Given the description of an element on the screen output the (x, y) to click on. 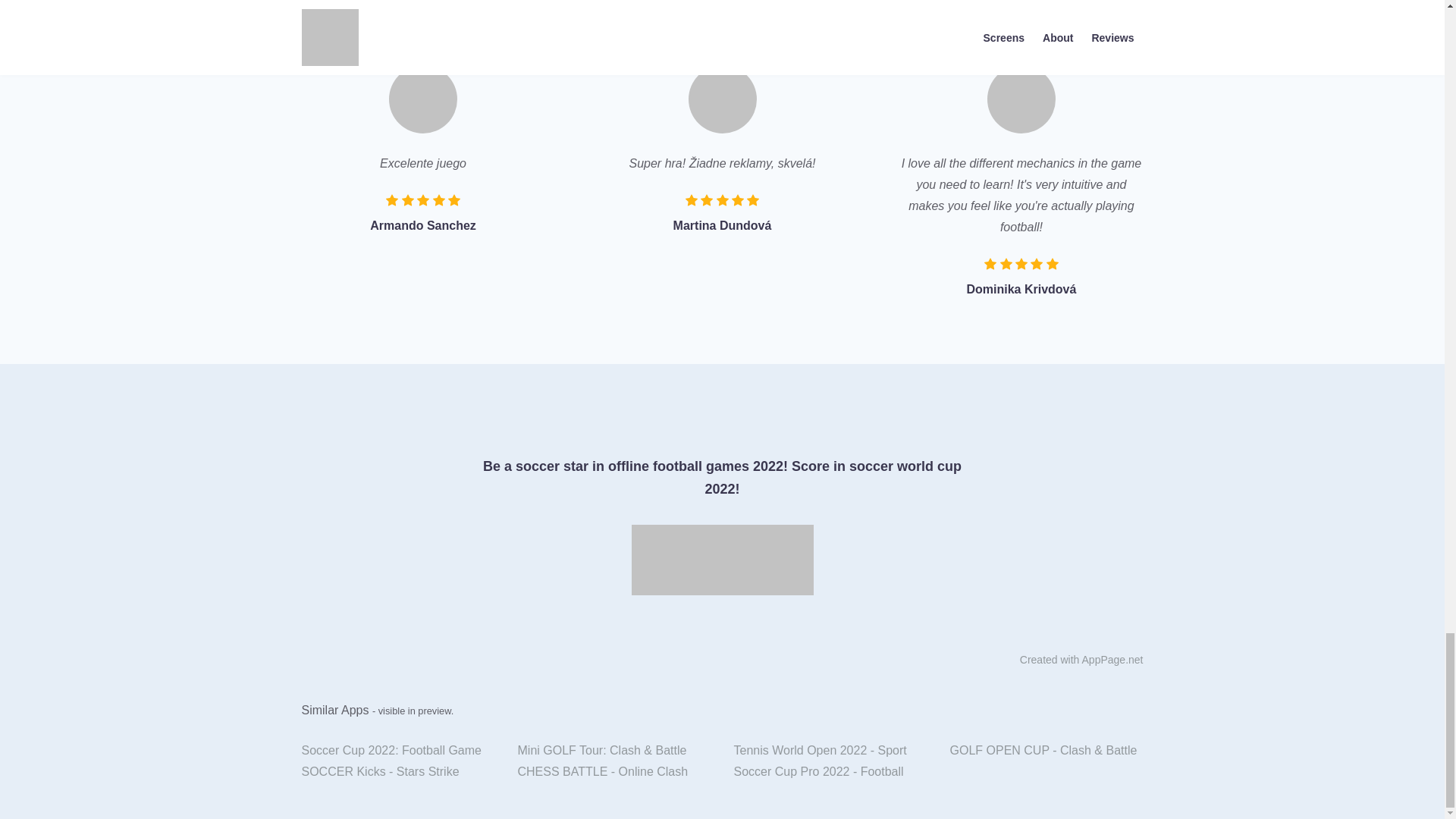
SOCCER Kicks - Stars Strike (397, 771)
AppPage.net (1111, 659)
Tennis World Open 2022 - Sport (829, 750)
CHESS BATTLE - Online Clash (614, 771)
Soccer Cup 2022: Football Game (397, 750)
Soccer Cup Pro 2022 - Football (829, 771)
